Given the description of an element on the screen output the (x, y) to click on. 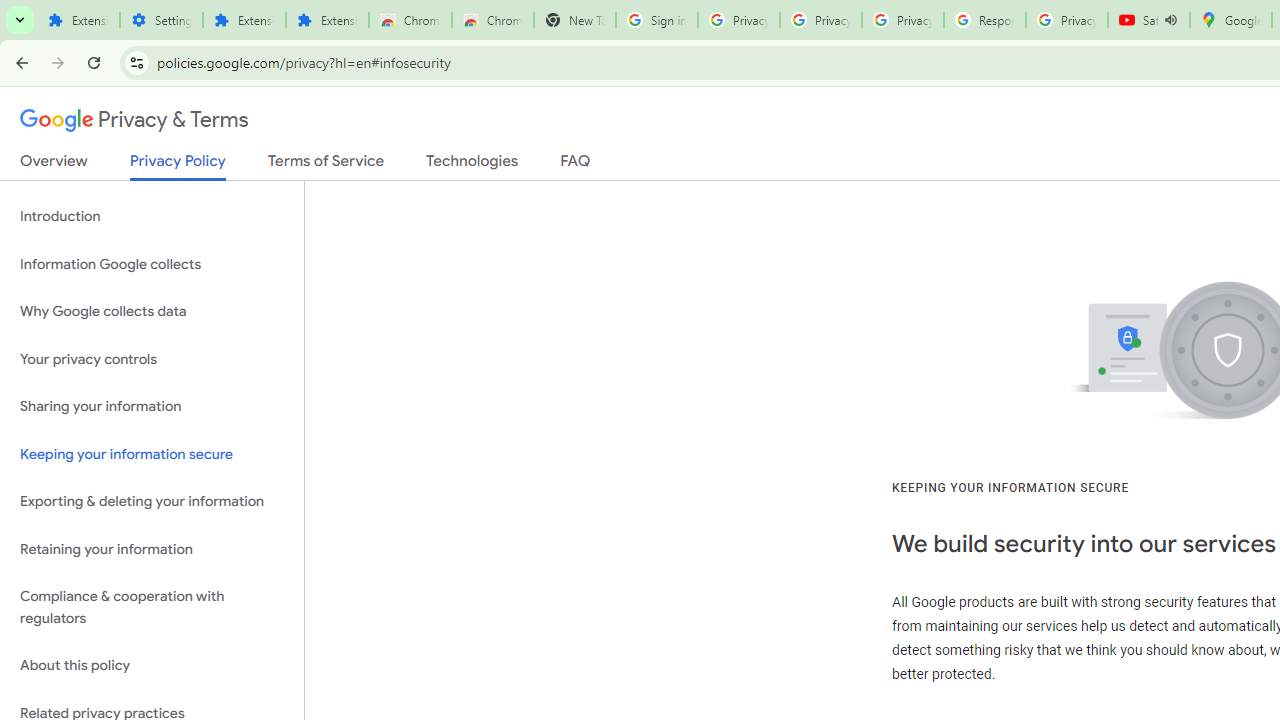
Your privacy controls (152, 358)
Introduction (152, 216)
Back (19, 62)
Exporting & deleting your information (152, 502)
Sharing your information (152, 407)
Extensions (326, 20)
Overview (54, 165)
